Given the description of an element on the screen output the (x, y) to click on. 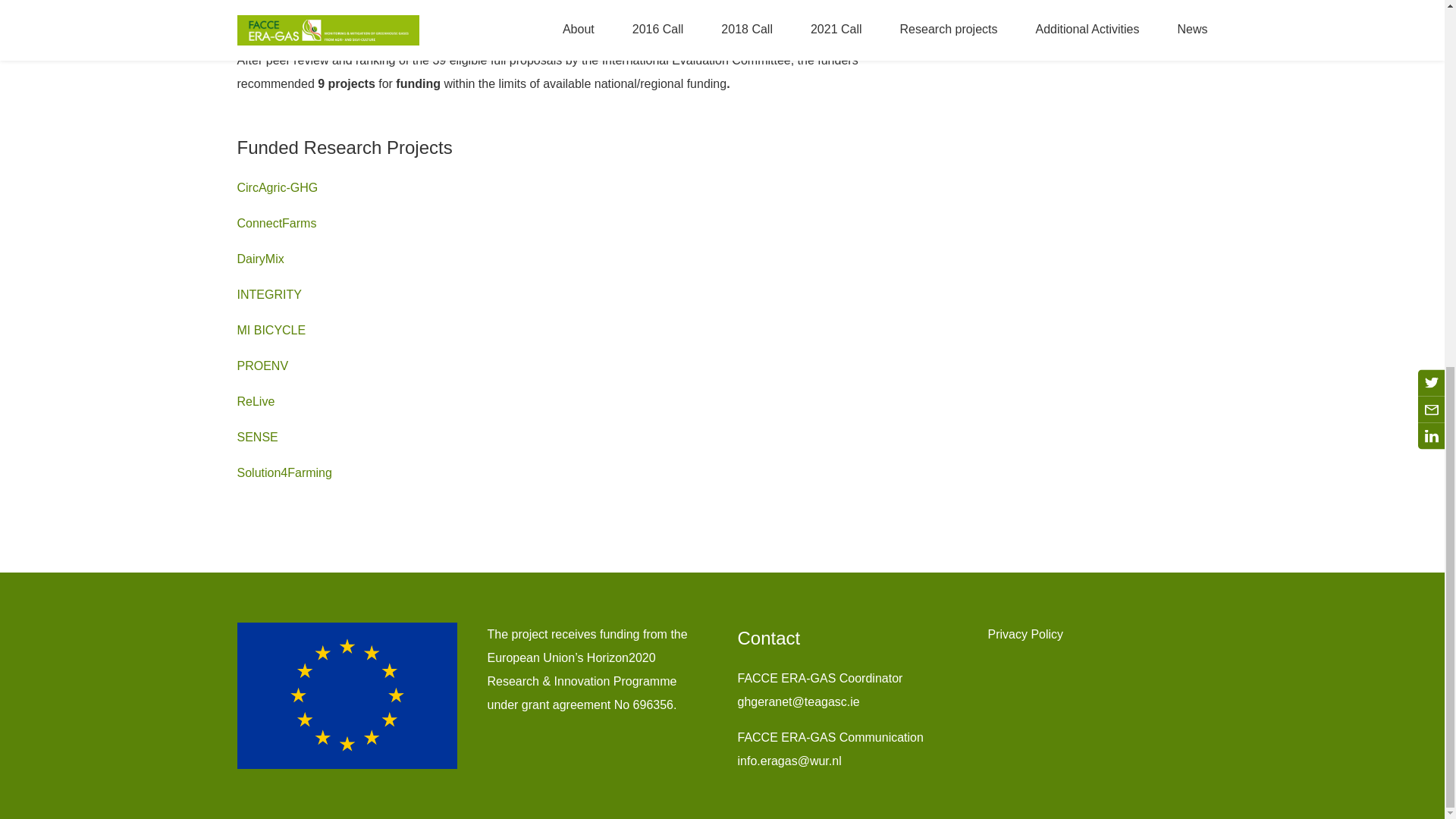
Solution4Farming (283, 472)
ConnectFarms (275, 223)
MI BICYCLE (270, 329)
SENSE (256, 436)
CircAgric-GHG (276, 187)
ConnectFarms (275, 223)
ReLive (255, 400)
PROENV (261, 365)
INTEGRITY (268, 294)
CircAgric-GHG (276, 187)
